Given the description of an element on the screen output the (x, y) to click on. 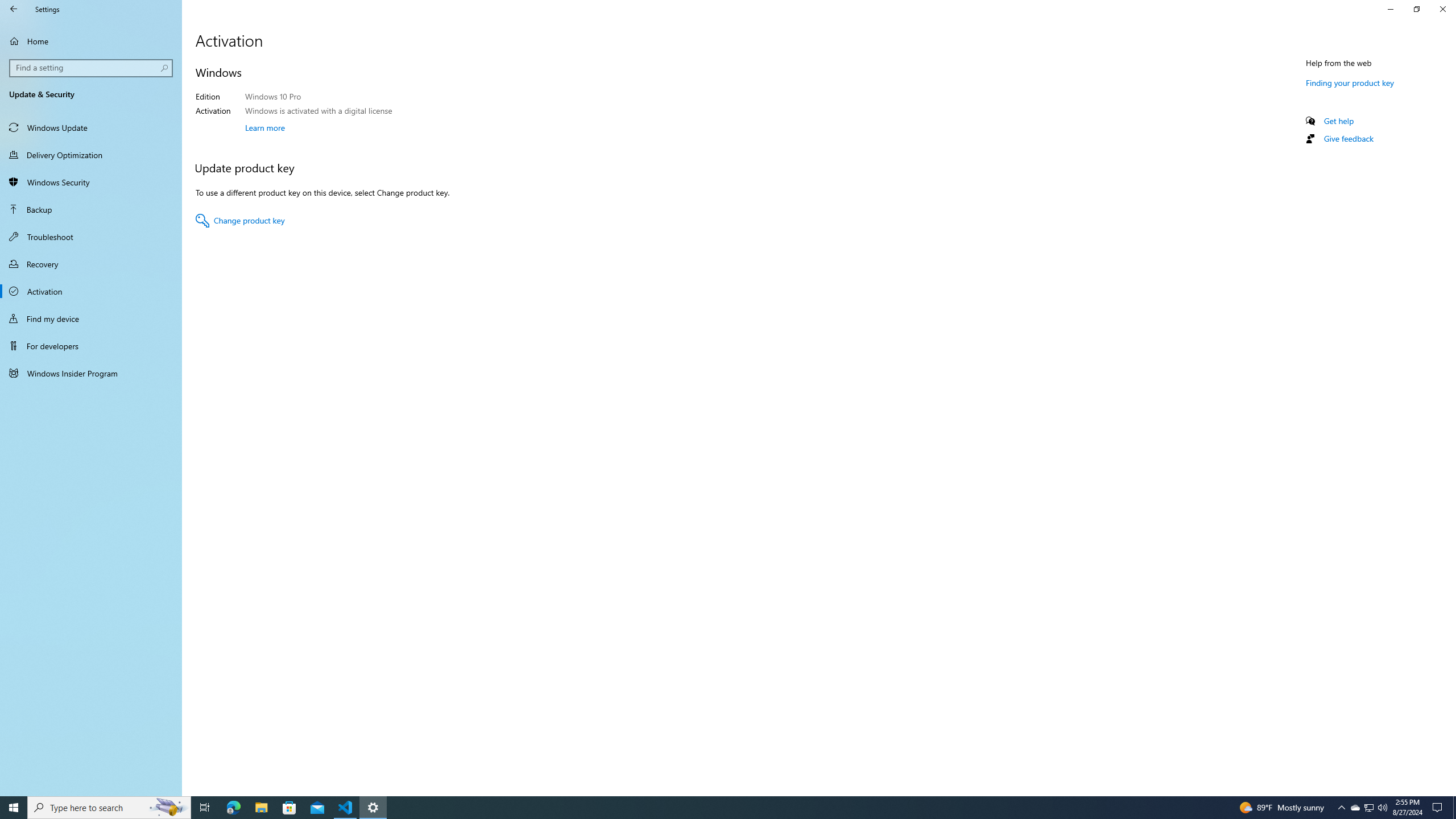
Change product key (240, 220)
Search highlights icon opens search home window (167, 807)
Activation (91, 290)
Find my device (91, 318)
Settings - 1 running window (373, 807)
Back (13, 9)
For developers (91, 345)
Windows Update (91, 126)
Notification Chevron (1341, 807)
Get help (1338, 120)
File Explorer (261, 807)
Windows Insider Program (91, 372)
Restore Settings (1416, 9)
Learn more about Windows activation (264, 127)
Microsoft Store (289, 807)
